Given the description of an element on the screen output the (x, y) to click on. 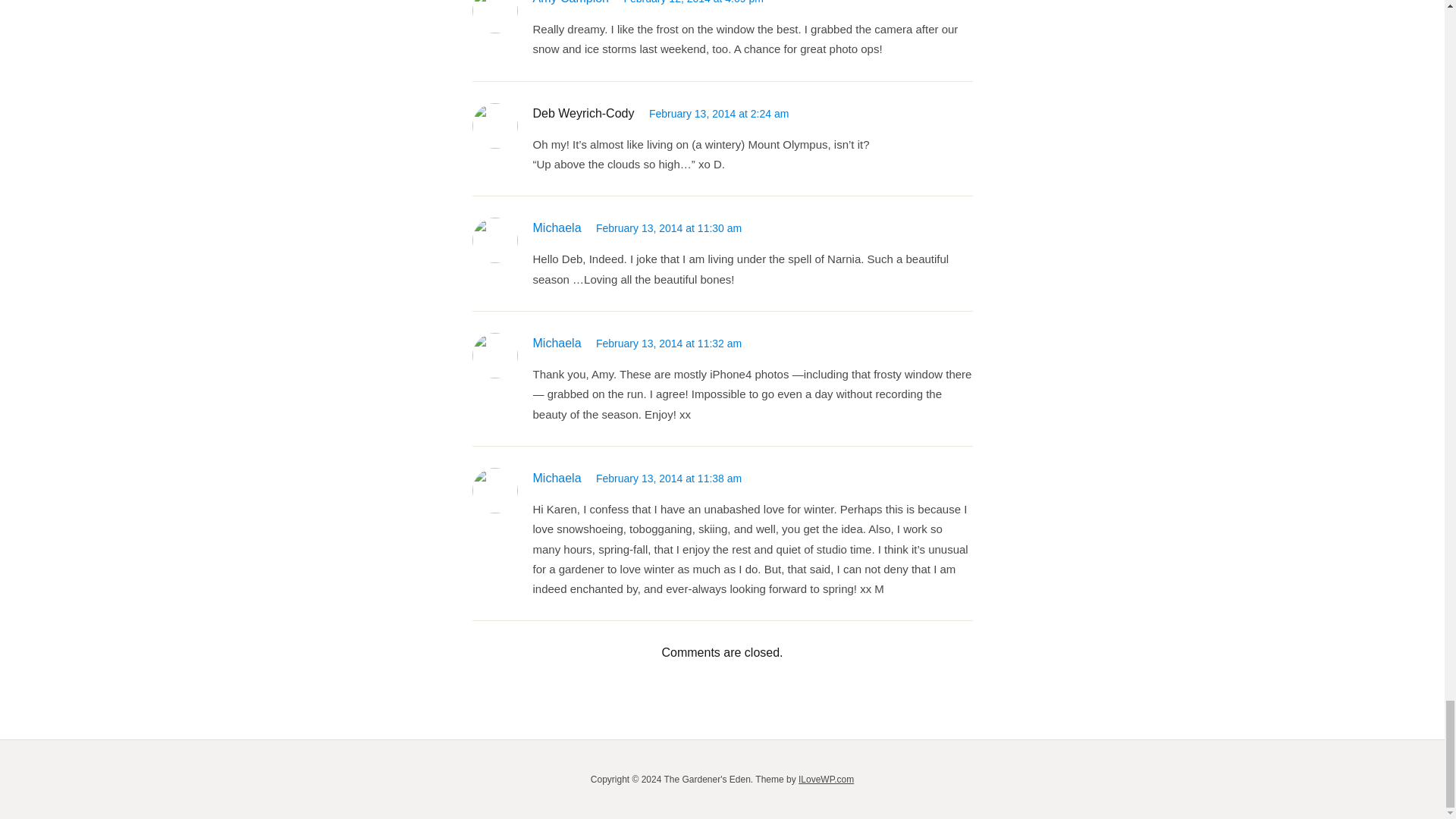
Michaela (556, 342)
ILoveWP.com (825, 778)
February 13, 2014 at 11:38 am (668, 478)
Michaela (556, 477)
Michaela (556, 227)
February 13, 2014 at 11:30 am (668, 227)
Amy Campion (570, 2)
February 13, 2014 at 11:32 am (668, 343)
February 12, 2014 at 4:09 pm (692, 2)
February 13, 2014 at 2:24 am (719, 113)
